Given the description of an element on the screen output the (x, y) to click on. 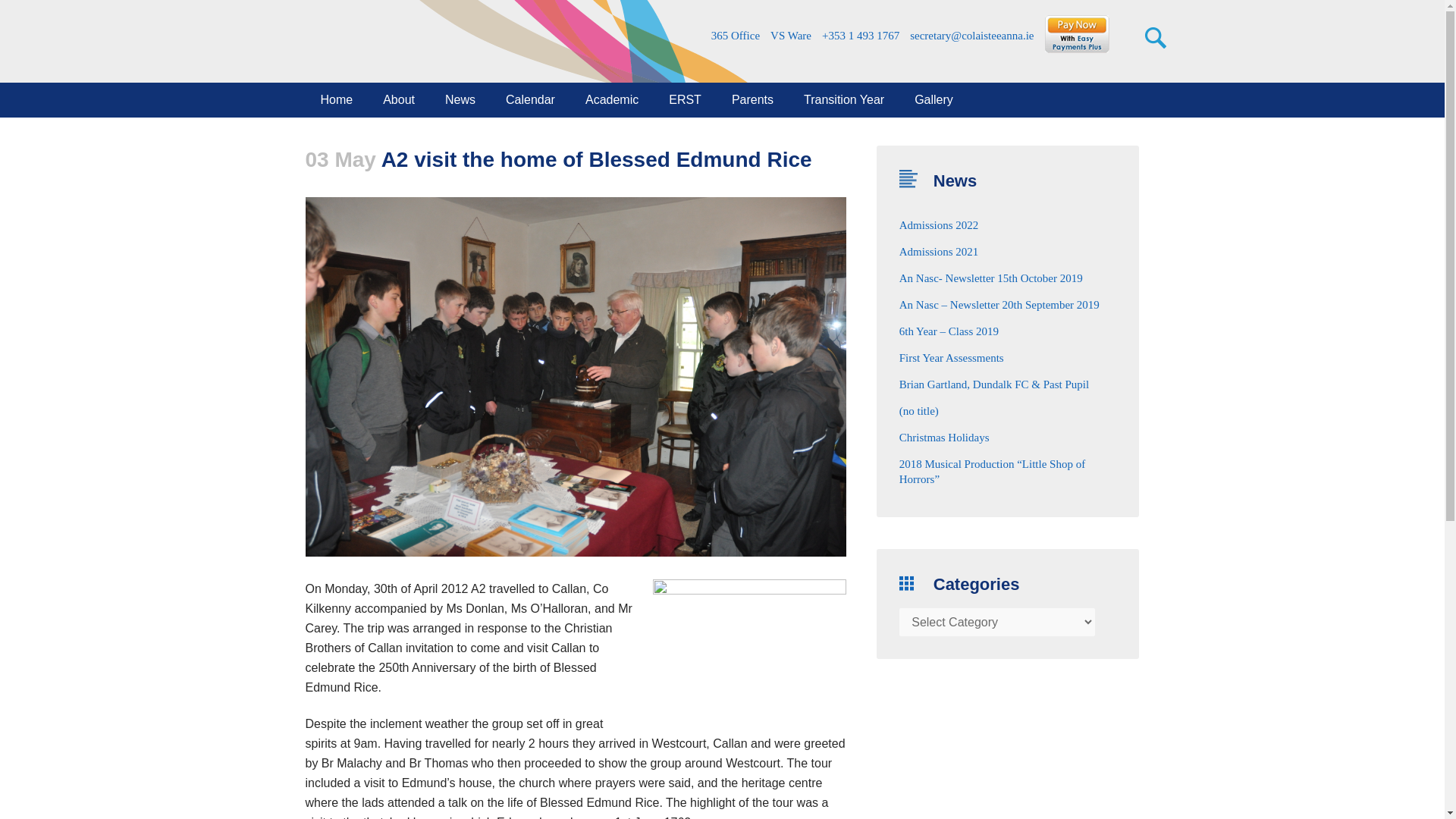
ERST (684, 99)
A2 Callan (748, 643)
365 Office (733, 35)
Academic (611, 99)
News (459, 99)
Parents (752, 99)
Home (336, 99)
Calendar (530, 99)
About (398, 99)
Gallery (933, 99)
